Given the description of an element on the screen output the (x, y) to click on. 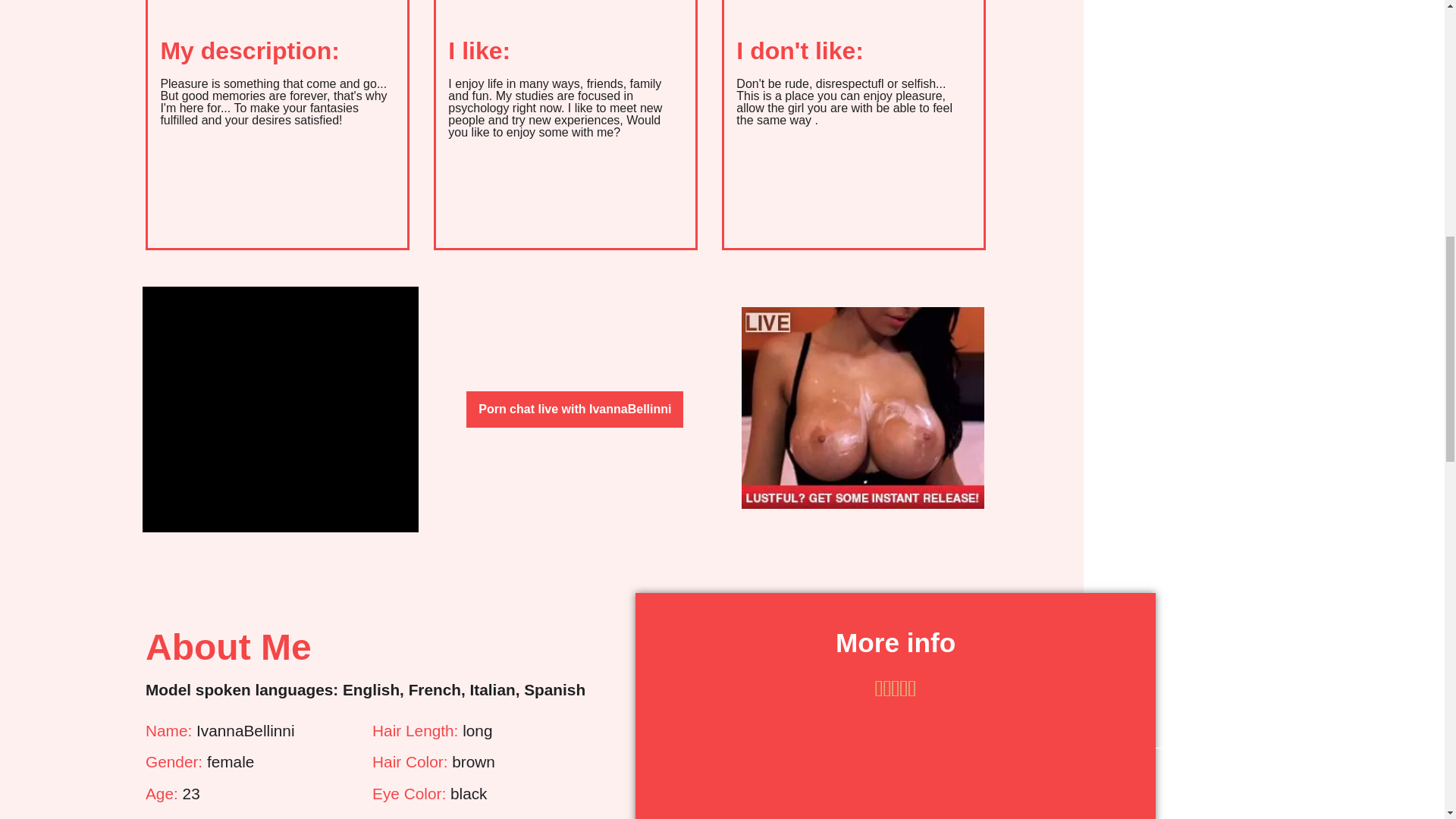
Porn chat live with IvannaBellinni (573, 409)
